Given the description of an element on the screen output the (x, y) to click on. 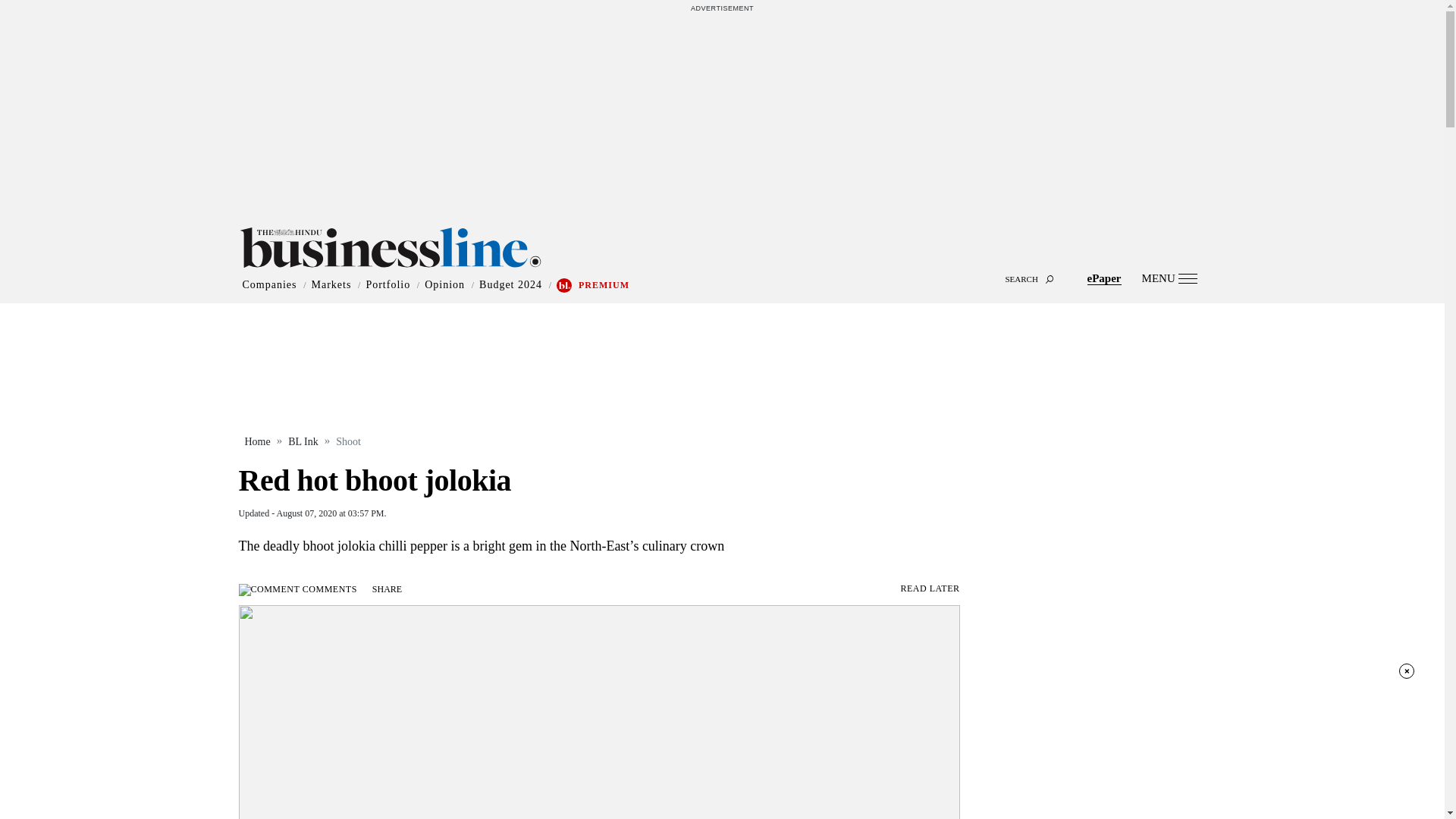
Markets (330, 284)
Portfolio (387, 284)
SEARCH (721, 265)
Companies (270, 284)
Budget 2024 (510, 284)
ePaper (1104, 278)
PREMIUM (603, 285)
MENU (1168, 277)
Opinion (444, 284)
